Given the description of an element on the screen output the (x, y) to click on. 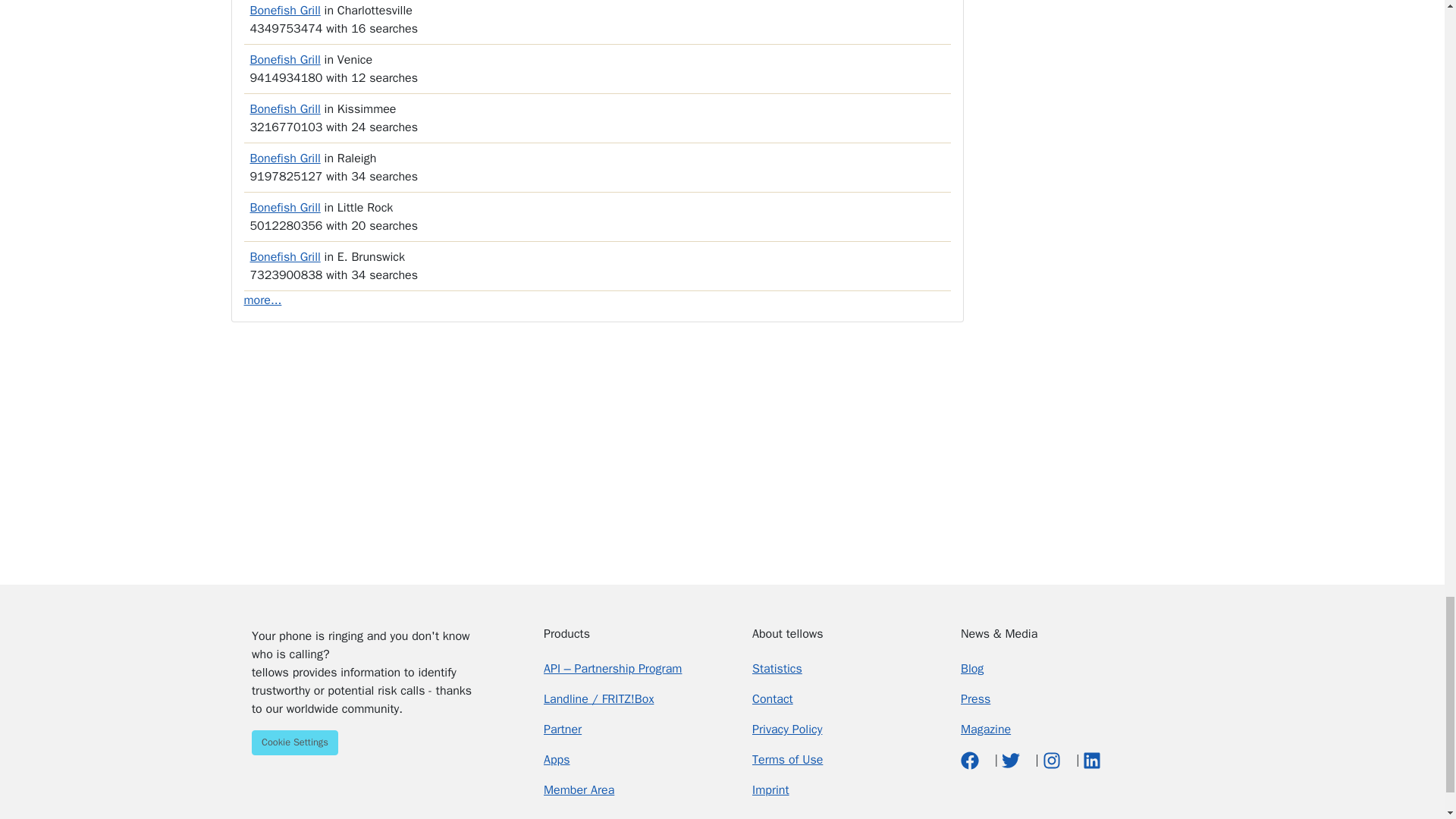
LinkedIn (1091, 759)
Presse (975, 698)
Magazin (985, 729)
twitter (1012, 759)
Blog (972, 668)
Facebook (971, 759)
Instagram (1053, 759)
